Given the description of an element on the screen output the (x, y) to click on. 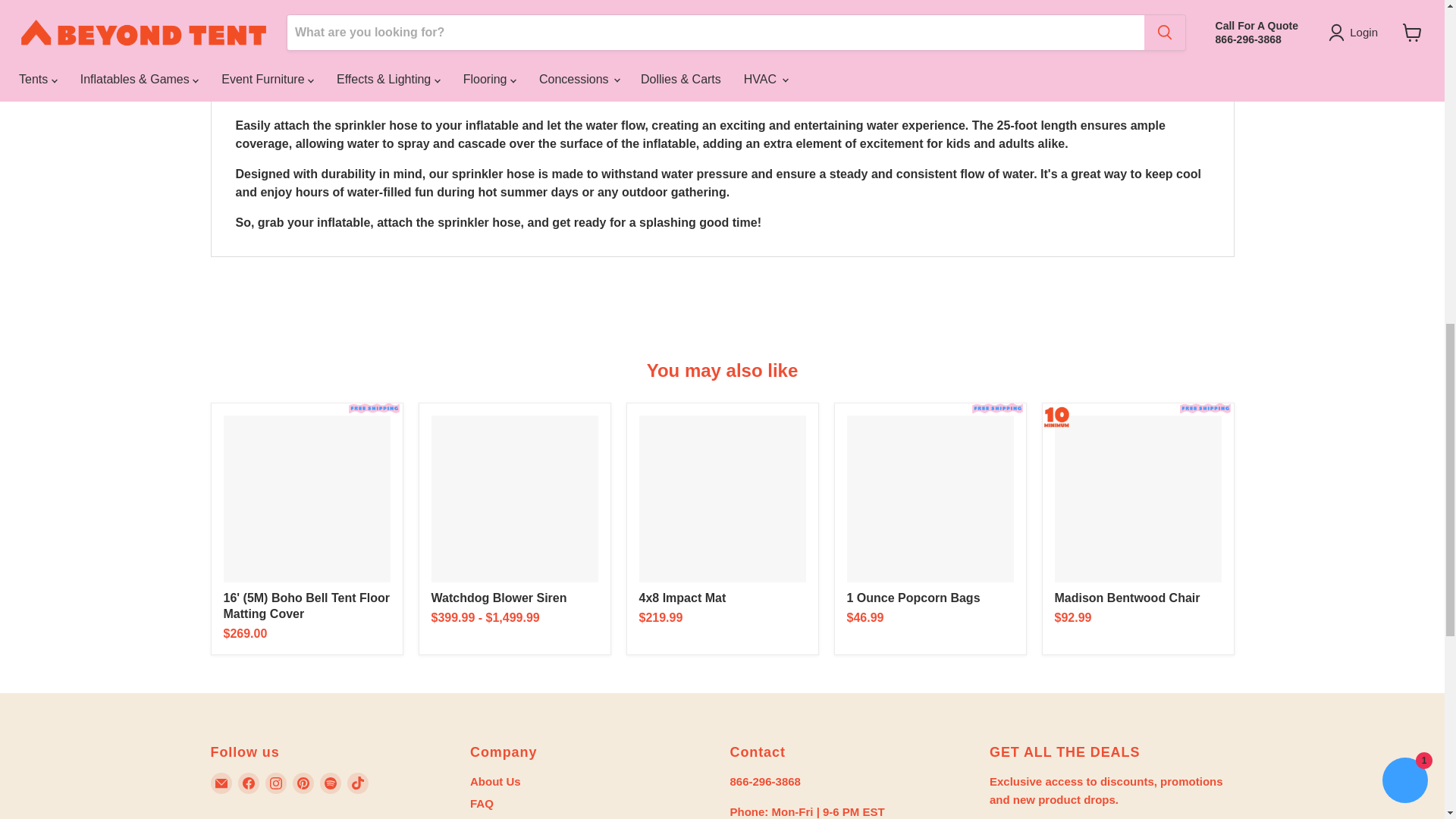
Facebook (248, 782)
Email (221, 782)
